Given the description of an element on the screen output the (x, y) to click on. 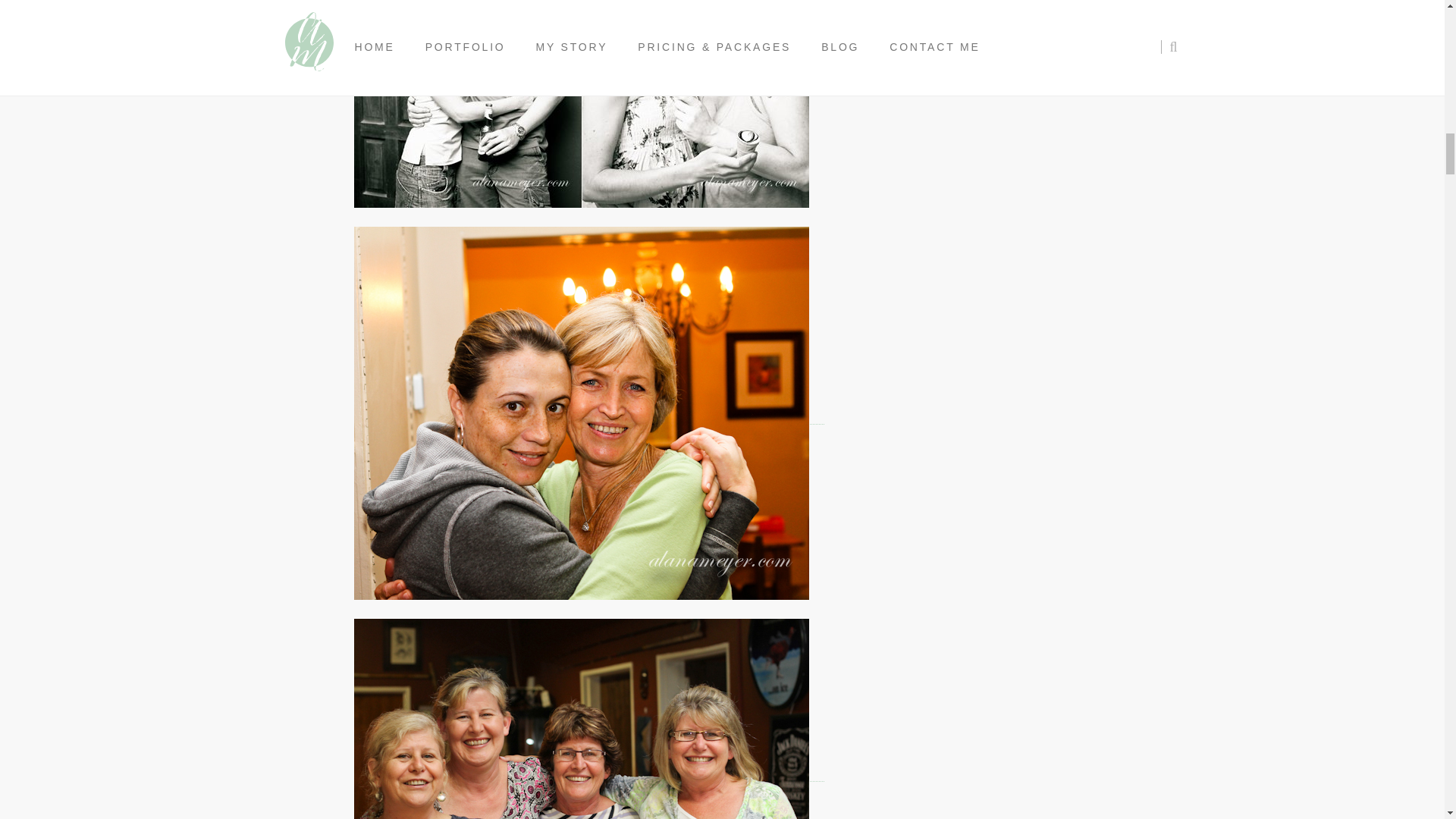
dale before party (581, 104)
Daleblog-7 (581, 719)
